Given the description of an element on the screen output the (x, y) to click on. 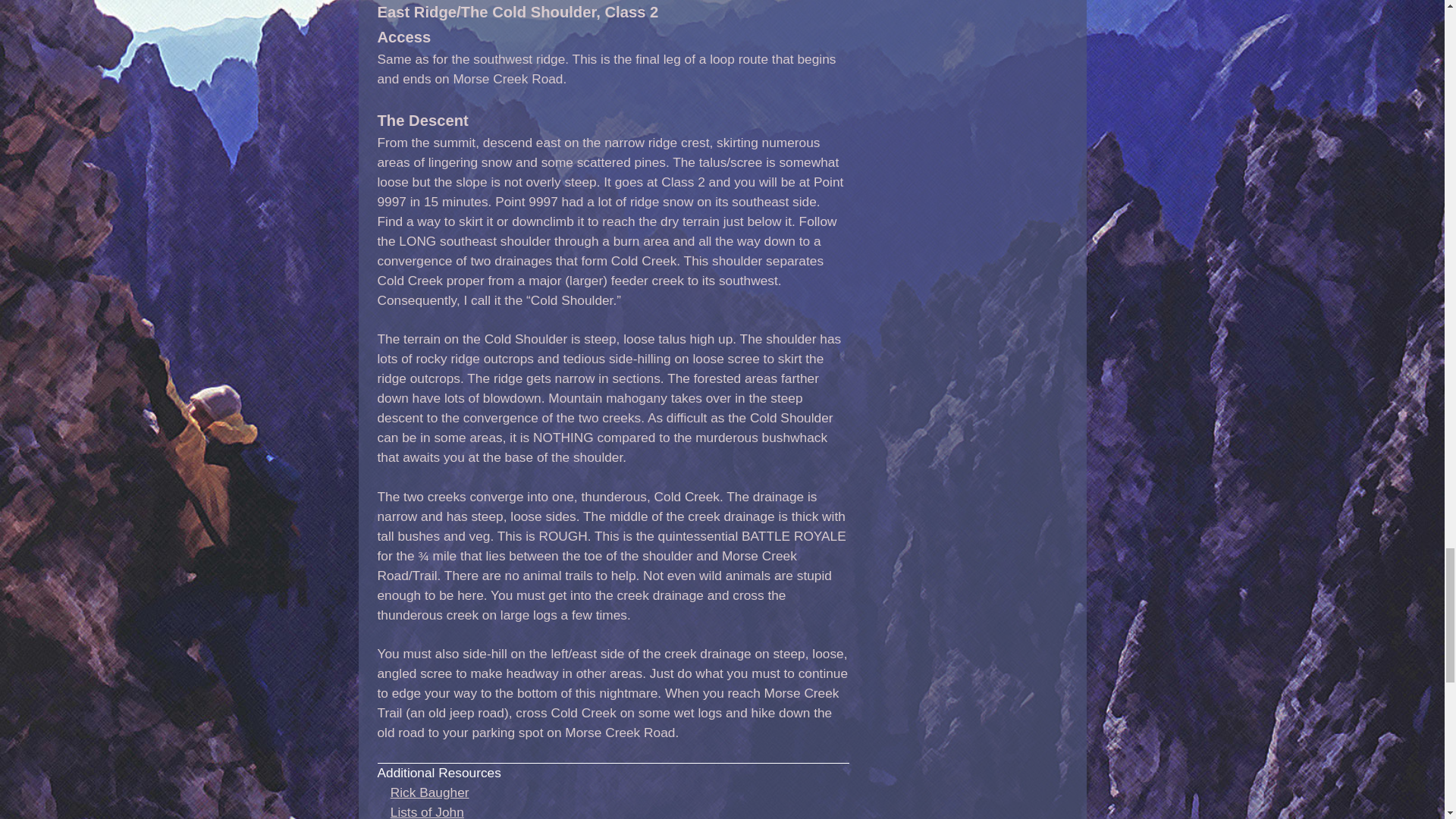
Rick Baugher (429, 792)
Lists of John (427, 811)
